Given the description of an element on the screen output the (x, y) to click on. 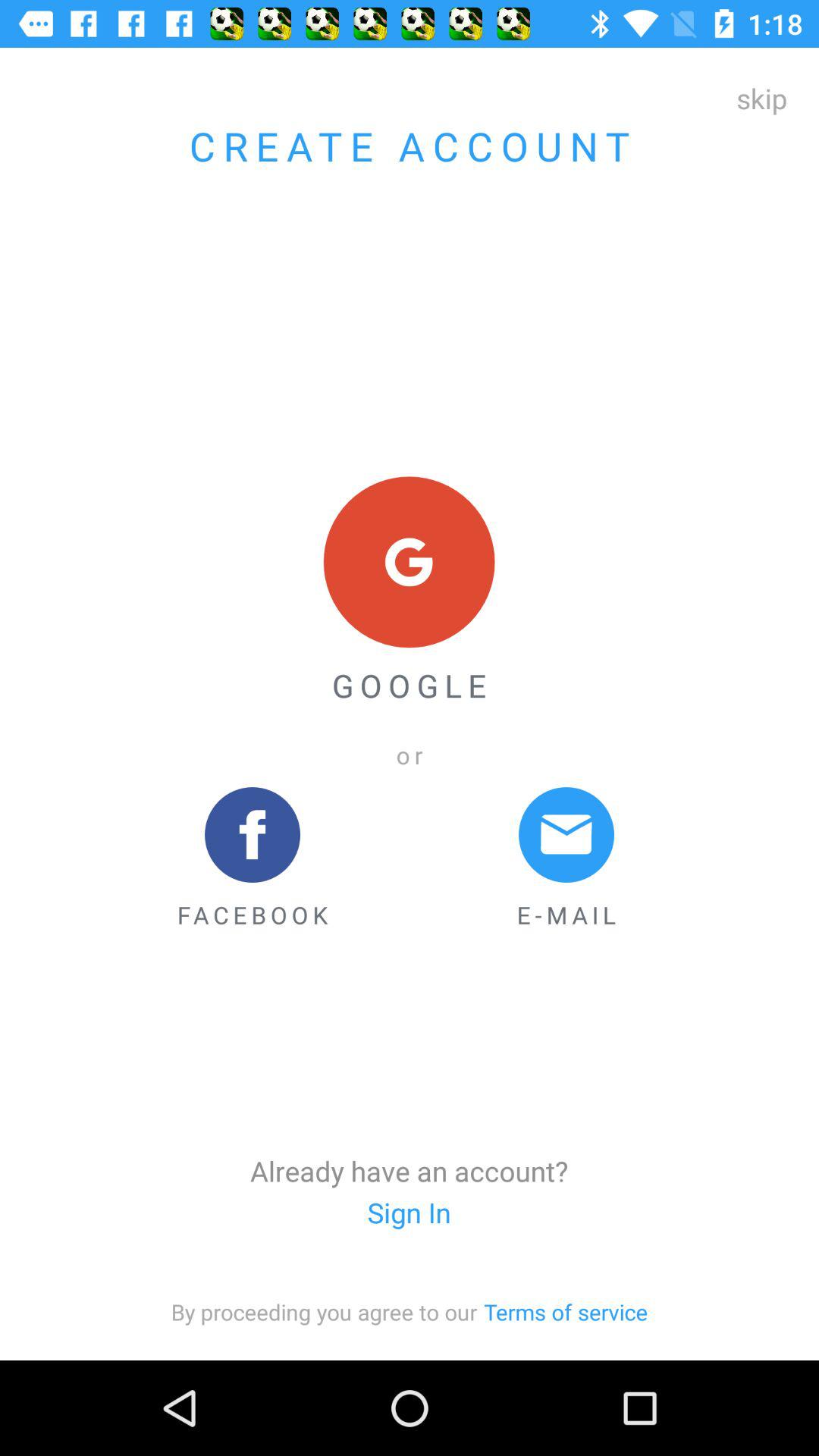
press item at the bottom right corner (565, 1311)
